Given the description of an element on the screen output the (x, y) to click on. 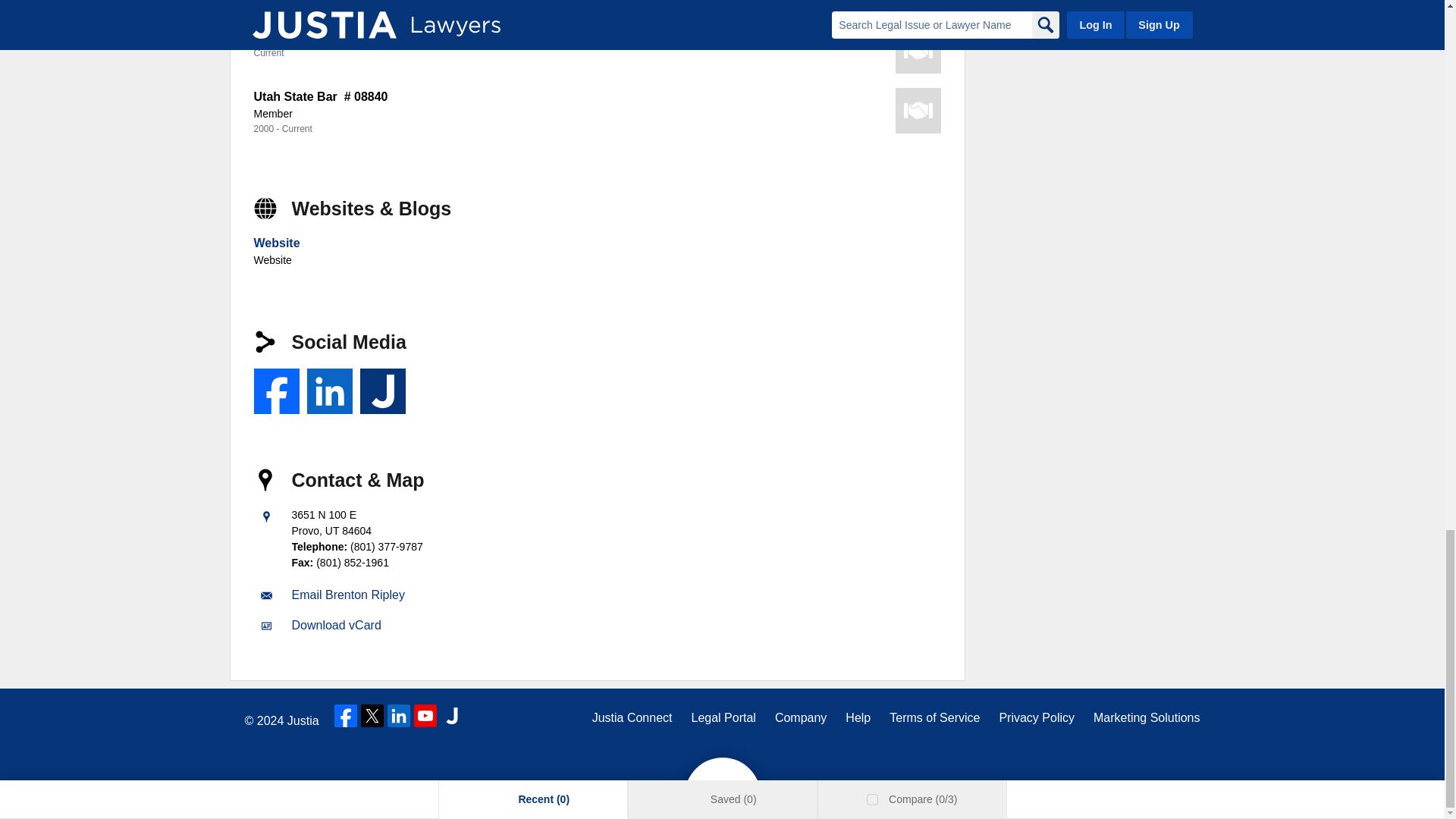
Brenton Ripley on Facebook (275, 391)
Justia Profile (381, 391)
Brenton Ripley on LinkedIn (328, 391)
 Justia Profile (381, 391)
LinkedIn (328, 391)
Facebook (275, 391)
Website (276, 242)
